Given the description of an element on the screen output the (x, y) to click on. 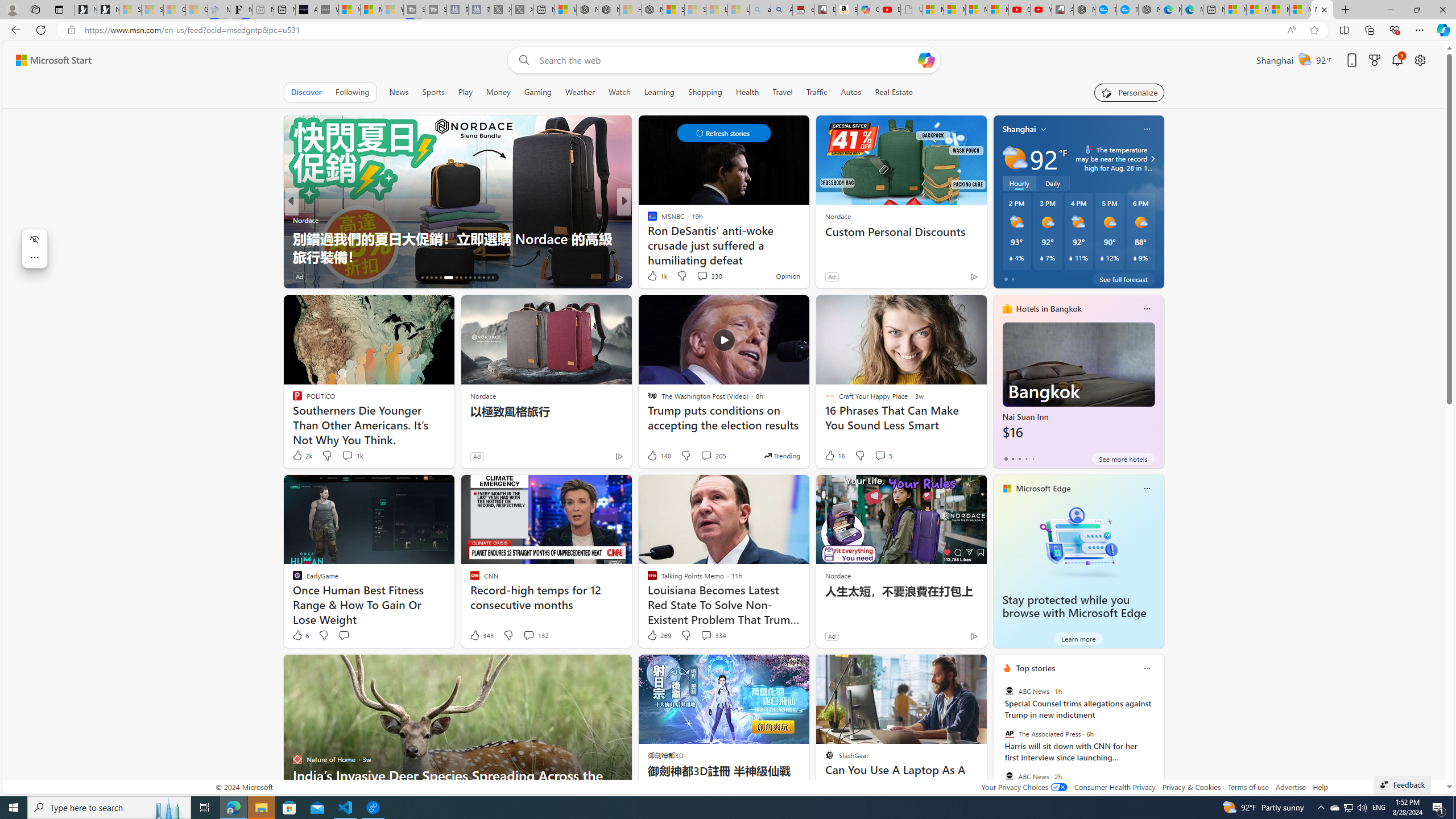
Comments turned off for this story (694, 276)
The Associated Press (1008, 733)
View comments 55 Comment (698, 276)
You're following FOX News (253, 279)
AutomationID: tab-29 (488, 277)
View comments 330 Comment (701, 275)
Class: weather-arrow-glyph (1152, 158)
269 Like (658, 634)
